Given the description of an element on the screen output the (x, y) to click on. 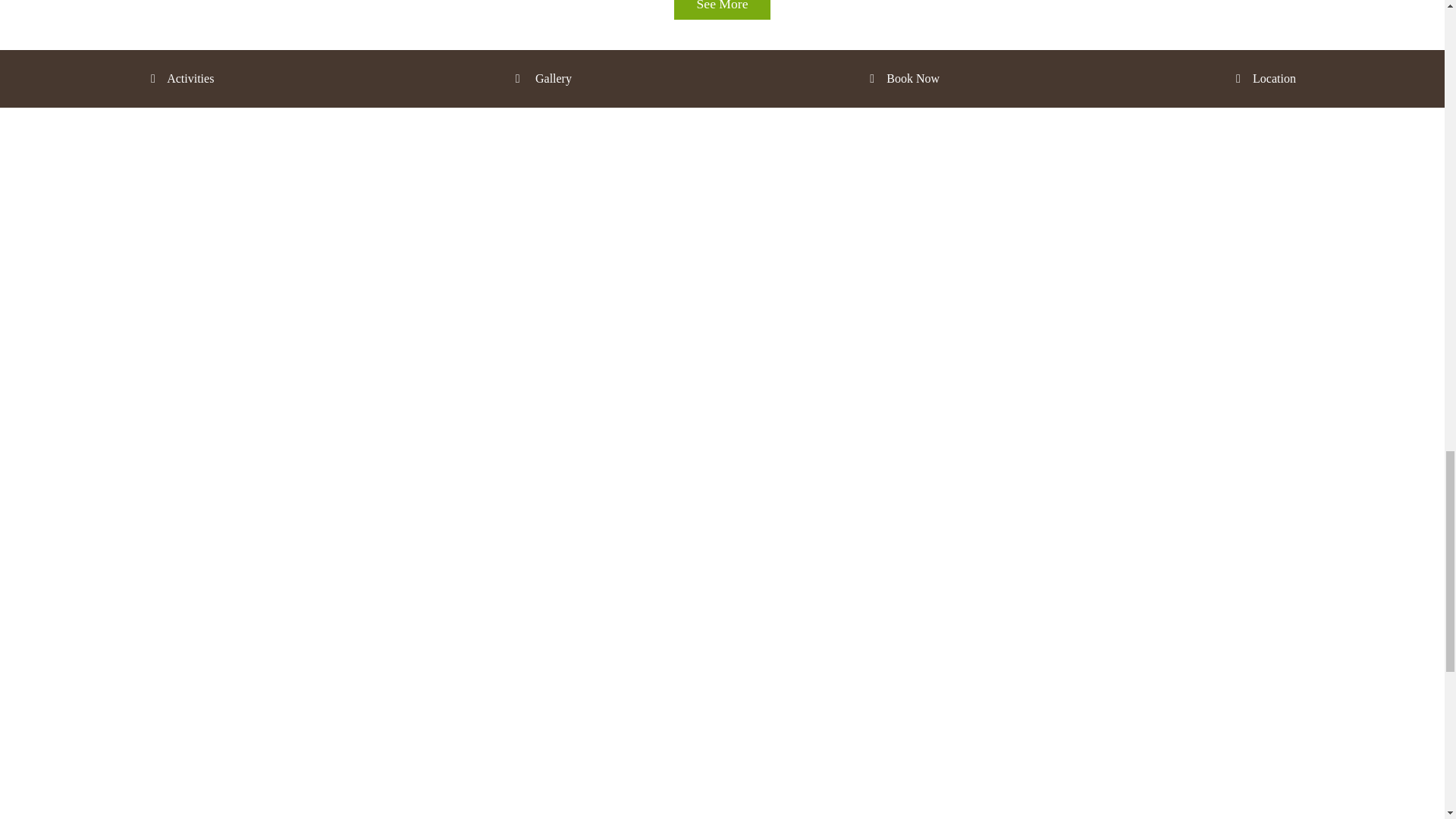
  Gallery (541, 78)
 Activities (180, 78)
 Location (1264, 78)
See More (722, 9)
 Book Now (901, 78)
